Given the description of an element on the screen output the (x, y) to click on. 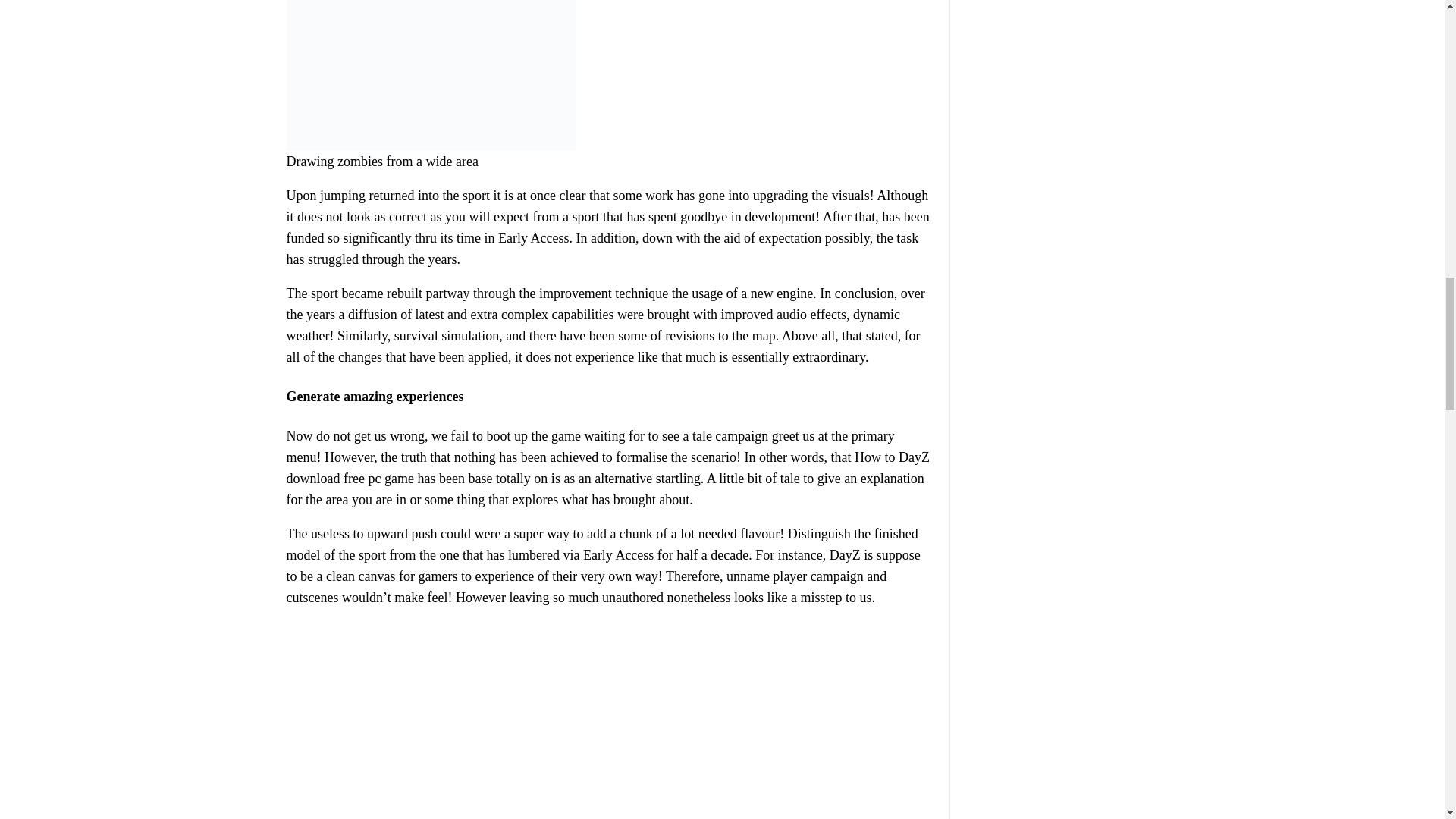
simulation (470, 335)
